Given the description of an element on the screen output the (x, y) to click on. 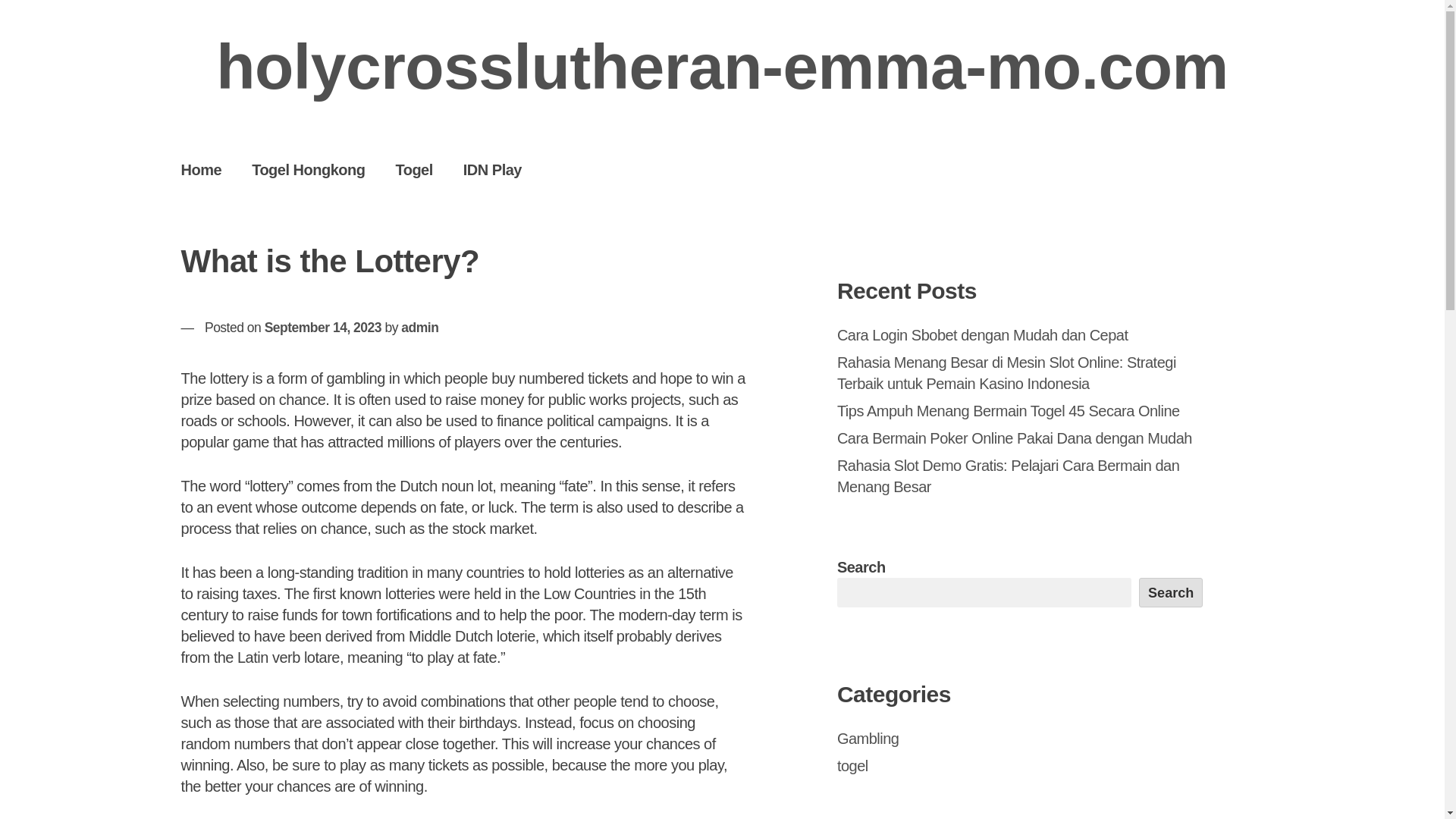
IDN Play (492, 169)
Cara Login Sbobet dengan Mudah dan Cepat (982, 334)
Home (201, 169)
Gambling (868, 738)
Search (1171, 592)
Tips Ampuh Menang Bermain Togel 45 Secara Online (1008, 410)
togel (852, 765)
holycrosslutheran-emma-mo.com (721, 66)
Togel (413, 169)
September 14, 2023 (322, 327)
admin (419, 327)
Togel Hongkong (307, 169)
Cara Bermain Poker Online Pakai Dana dengan Mudah (1014, 437)
